Given the description of an element on the screen output the (x, y) to click on. 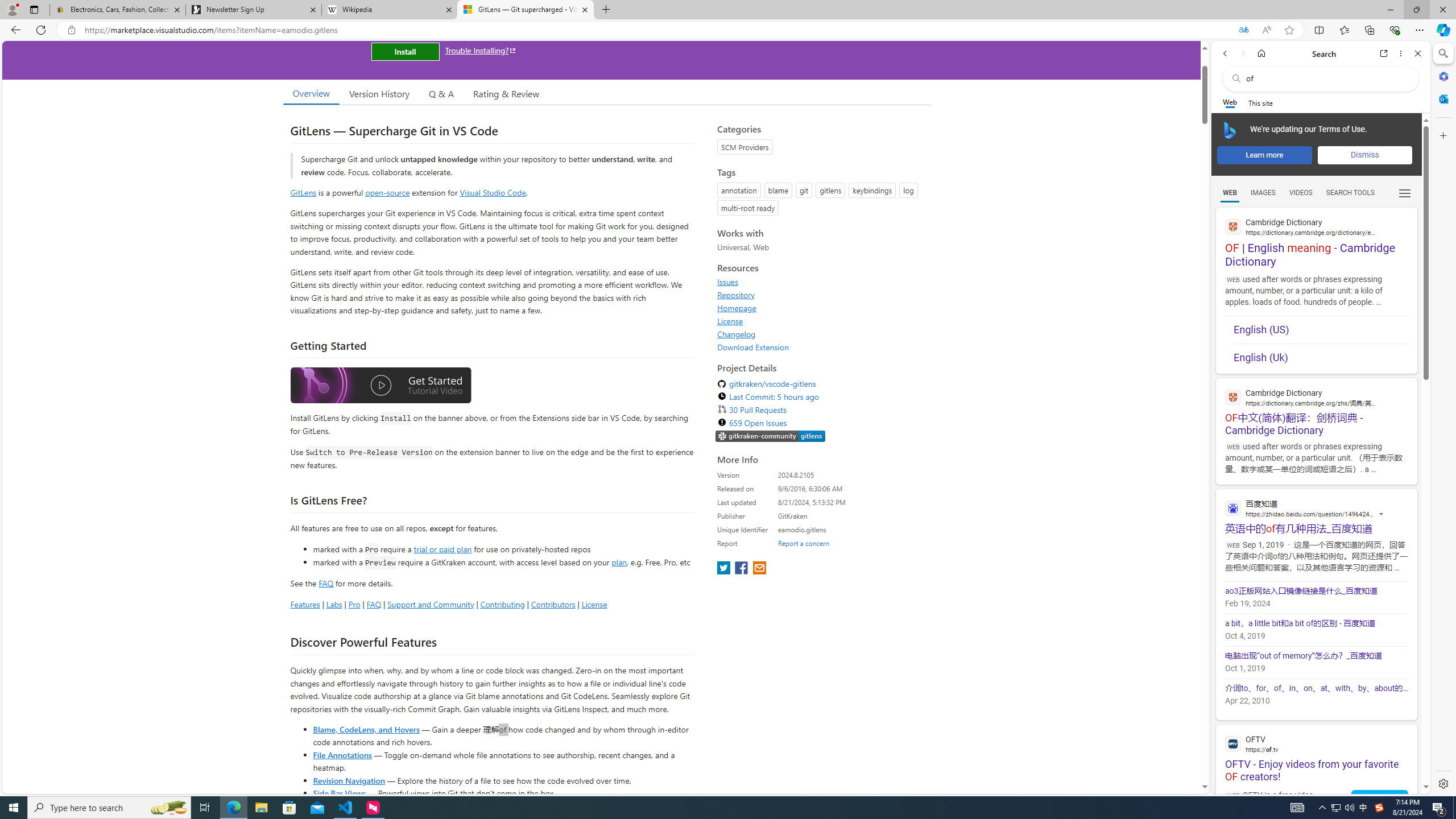
plan (618, 562)
Watch the GitLens Getting Started video (380, 385)
GitLens (303, 192)
OF | English meaning - Cambridge Dictionary (1315, 238)
English (Uk) (1320, 357)
